Given the description of an element on the screen output the (x, y) to click on. 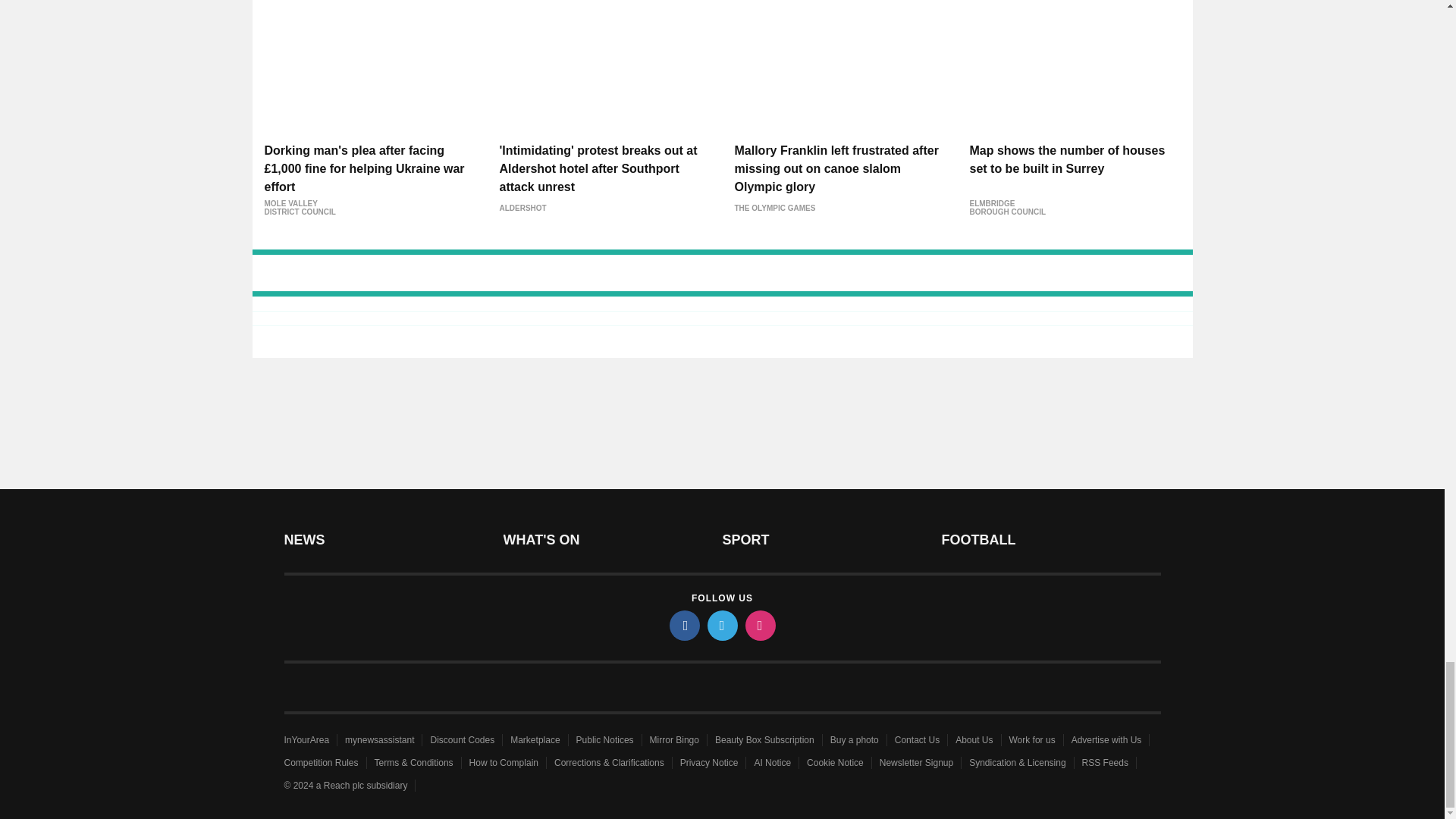
instagram (759, 625)
twitter (721, 625)
facebook (683, 625)
